Given the description of an element on the screen output the (x, y) to click on. 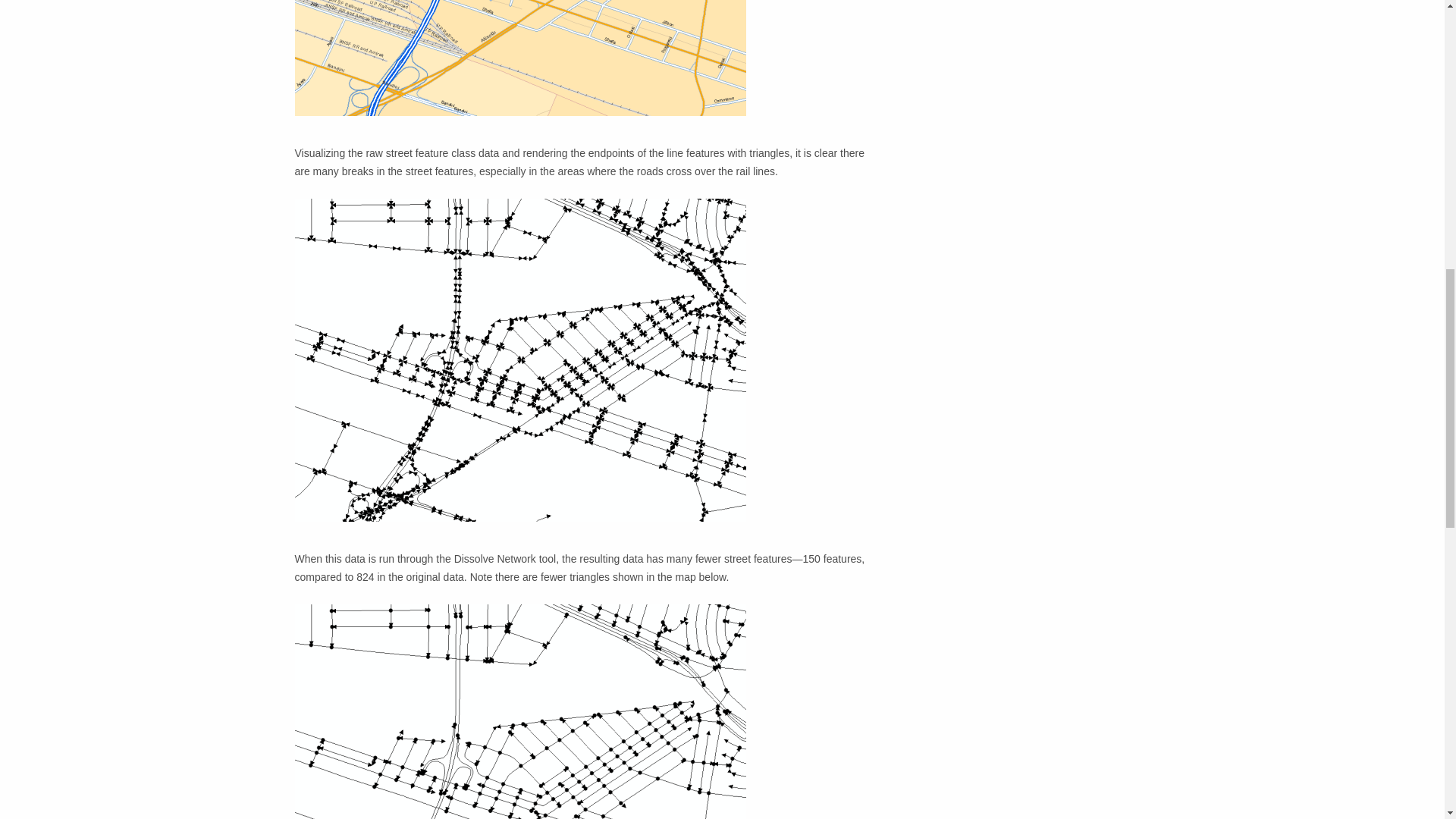
Map of streets and rail lines (519, 58)
